Given the description of an element on the screen output the (x, y) to click on. 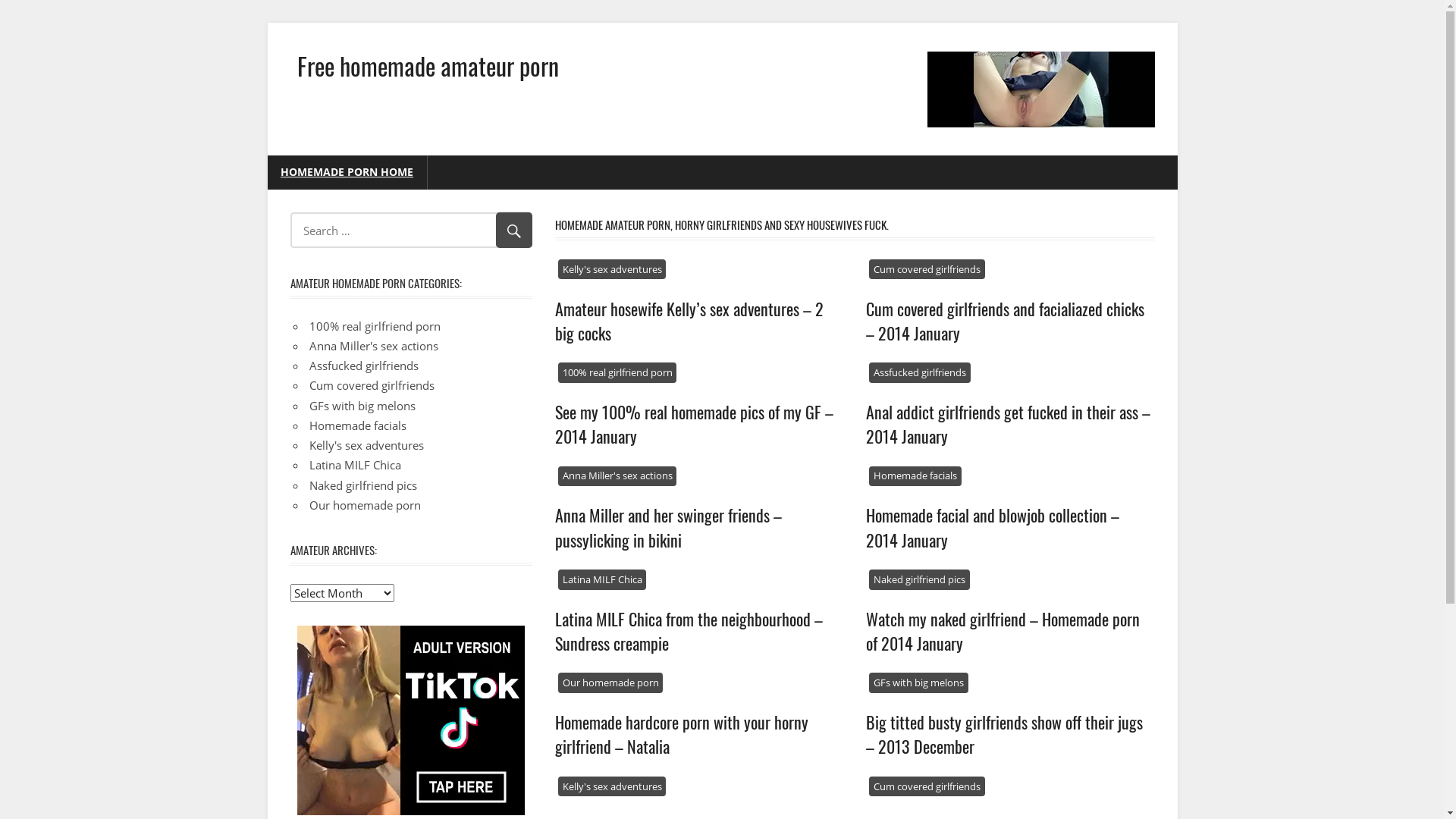
Free homemade amateur porn Element type: text (427, 65)
Kelly's sex adventures Element type: text (612, 786)
Search for: Element type: hover (410, 229)
Cum covered girlfriends Element type: text (927, 269)
Latina MILF Chica Element type: text (355, 464)
Cum covered girlfriends Element type: text (927, 786)
Kelly's sex adventures Element type: text (612, 269)
Latina MILF Chica Element type: text (602, 579)
Assfucked girlfriends Element type: text (919, 372)
Cum covered girlfriends Element type: text (371, 384)
Anna Miller's sex actions Element type: text (373, 345)
100% real girlfriend porn Element type: text (374, 325)
Anna Miller's sex actions Element type: text (617, 475)
Assfucked girlfriends Element type: text (363, 365)
Skip to content Element type: text (266, 21)
Kelly's sex adventures Element type: text (366, 444)
100% real girlfriend porn Element type: text (617, 372)
GFs with big melons Element type: text (362, 404)
HOMEMADE PORN HOME Element type: text (346, 172)
Naked girlfriend pics Element type: text (363, 484)
Homemade facials Element type: text (357, 425)
Homemade facials Element type: text (915, 475)
Our homemade porn Element type: text (610, 682)
GFs with big melons Element type: text (918, 682)
Our homemade porn Element type: text (364, 504)
Naked girlfriend pics Element type: text (919, 579)
